Given the description of an element on the screen output the (x, y) to click on. 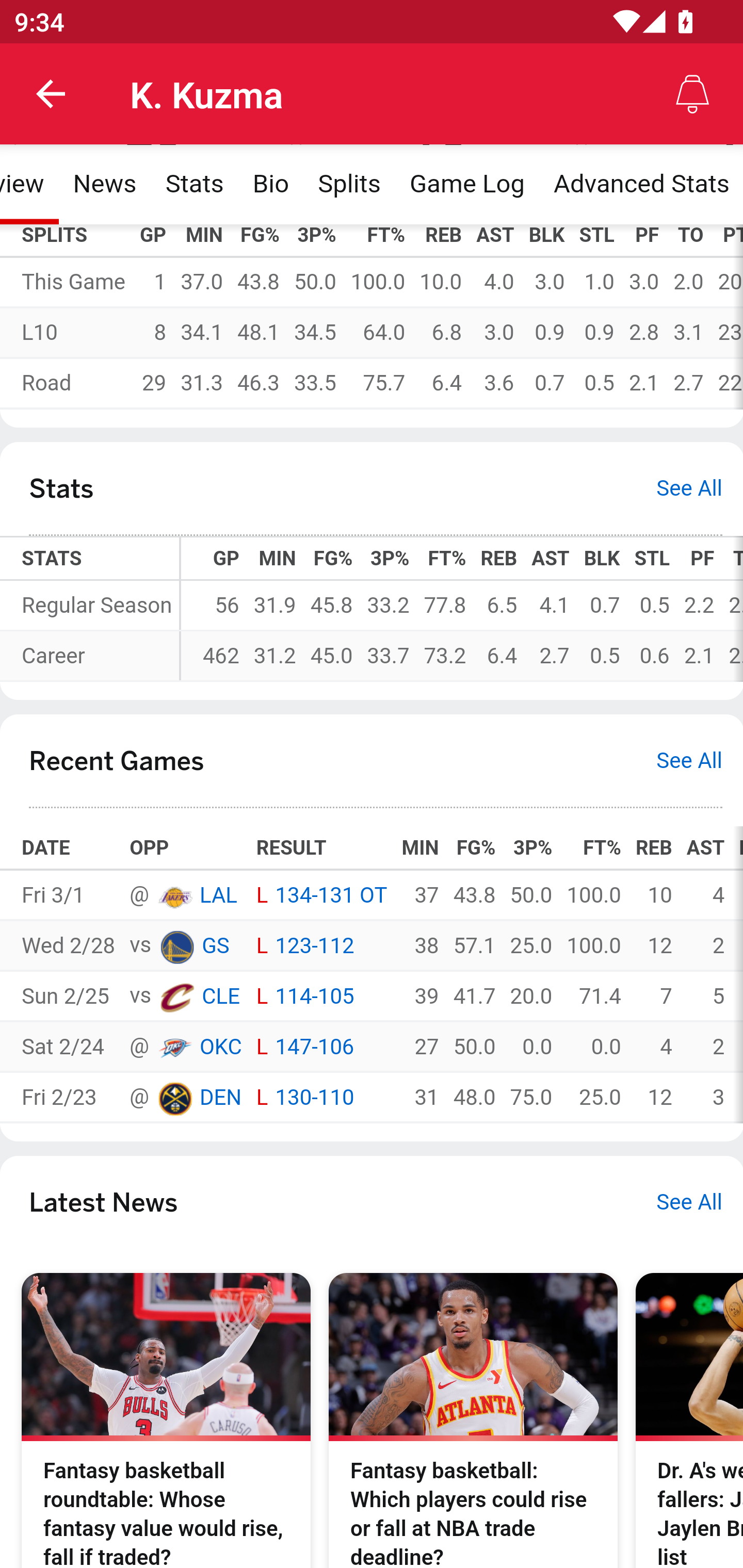
back.button (50, 93)
Alerts (692, 93)
Overview (29, 184)
News (104, 184)
Stats (193, 184)
Bio (270, 184)
Splits (349, 184)
Game Log (466, 184)
Advanced Stats (640, 184)
See All (689, 488)
See All (689, 762)
LAL (174, 896)
L 134-131 OT L 134-131 OT (320, 896)
LAL (218, 895)
GS (176, 946)
L 123-112 L 123-112 (320, 946)
GS (215, 945)
CLE (176, 997)
L 114-105 L 114-105 (320, 996)
CLE (220, 997)
OKC (174, 1047)
L 147-106 L 147-106 (320, 1046)
OKC (220, 1047)
DEN (174, 1097)
L 130-110 L 130-110 (320, 1097)
DEN (220, 1098)
See All (689, 1203)
